Given the description of an element on the screen output the (x, y) to click on. 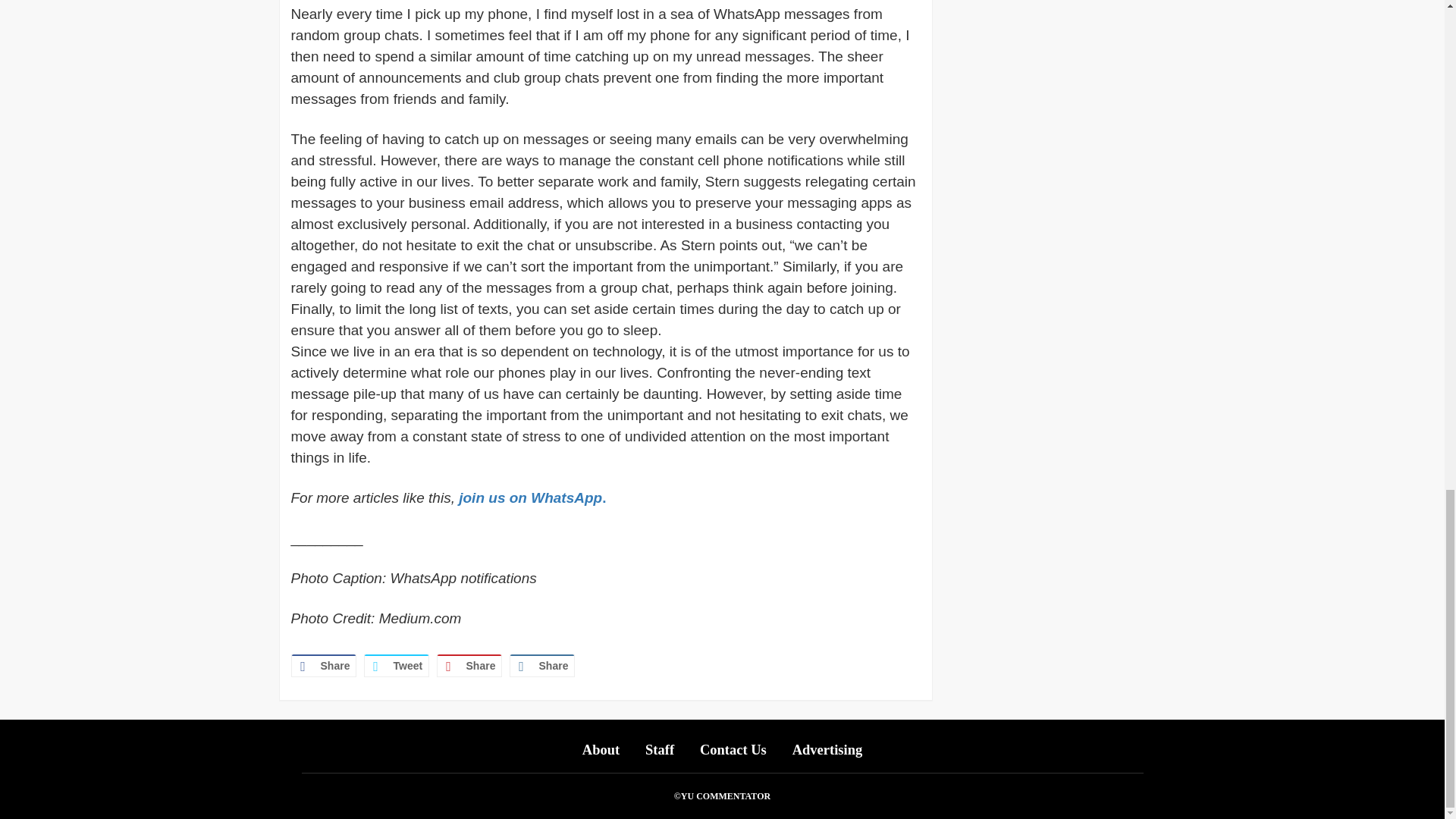
join us on WhatsApp. (531, 497)
Share (323, 665)
Share on Twitter (396, 665)
Share (542, 665)
Share on Pinterest (469, 665)
Share (469, 665)
Tweet (396, 665)
Share on LinkedIn (542, 665)
Share on Facebook (323, 665)
